Given the description of an element on the screen output the (x, y) to click on. 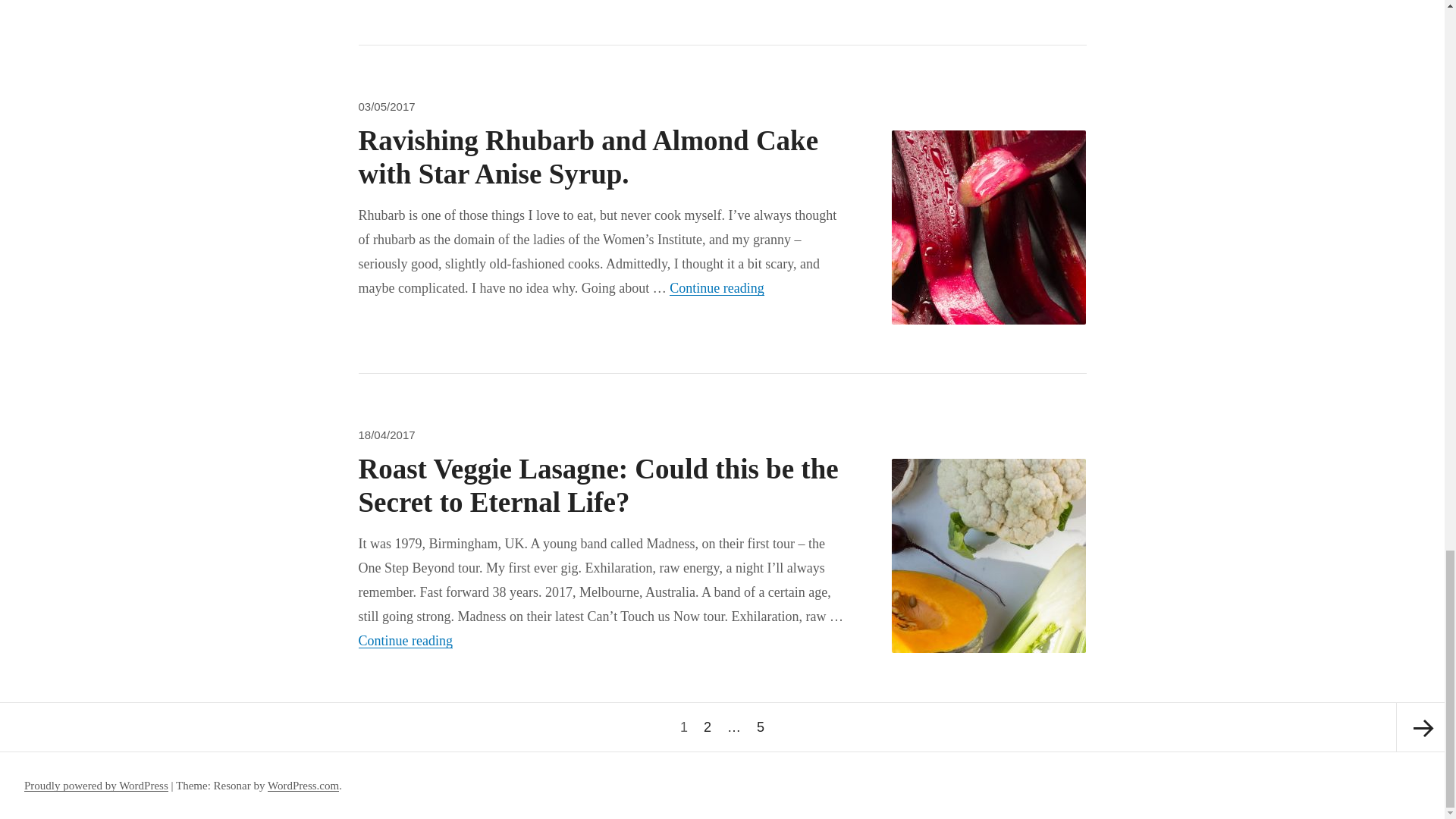
Ravishing Rhubarb and Almond Cake with Star Anise Syrup. (588, 157)
